Given the description of an element on the screen output the (x, y) to click on. 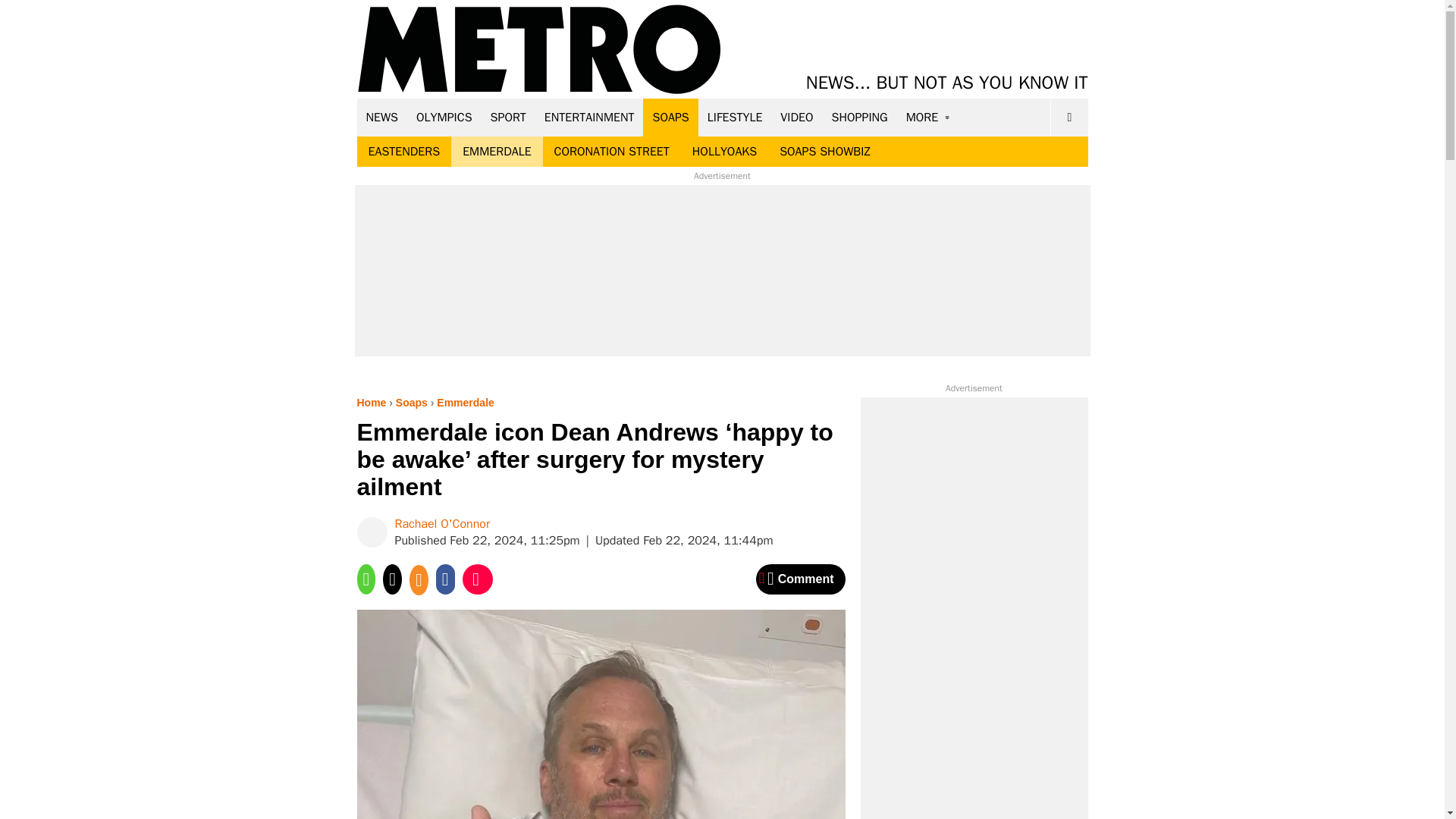
NEWS (381, 117)
LIFESTYLE (734, 117)
Metro (539, 50)
OLYMPICS (444, 117)
CORONATION STREET (612, 151)
HOLLYOAKS (724, 151)
SOAPS SHOWBIZ (825, 151)
SPORT (508, 117)
ENTERTAINMENT (589, 117)
SOAPS (670, 117)
EMMERDALE (496, 151)
EASTENDERS (403, 151)
